Given the description of an element on the screen output the (x, y) to click on. 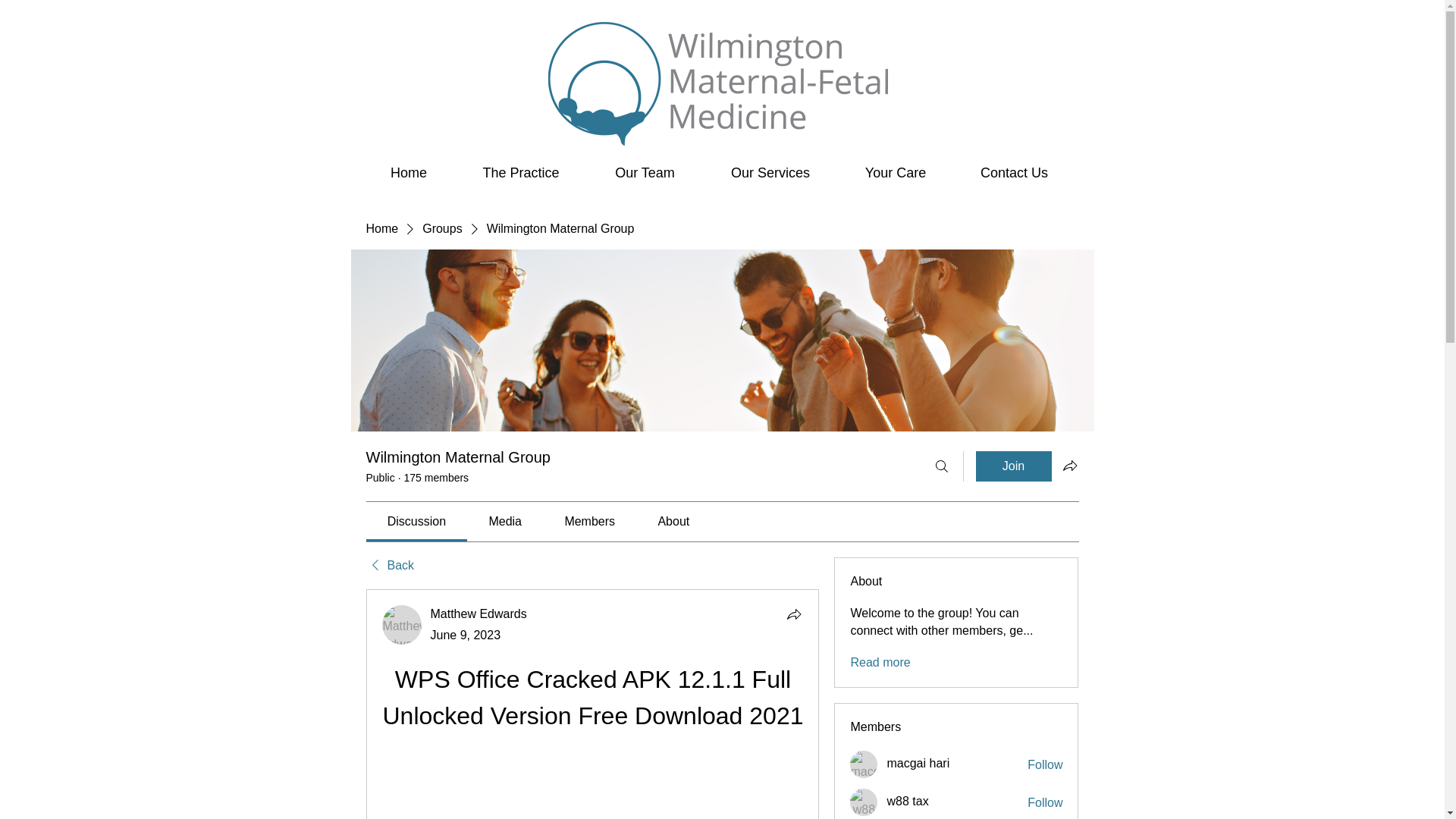
Home (408, 172)
Contact Us (1014, 172)
Matthew Edwards (401, 624)
Matthew Edwards (478, 613)
Join (1013, 466)
Follow (1044, 764)
macgai hari (917, 762)
Our Team (644, 172)
The Practice (520, 172)
Your Care (895, 172)
